Given the description of an element on the screen output the (x, y) to click on. 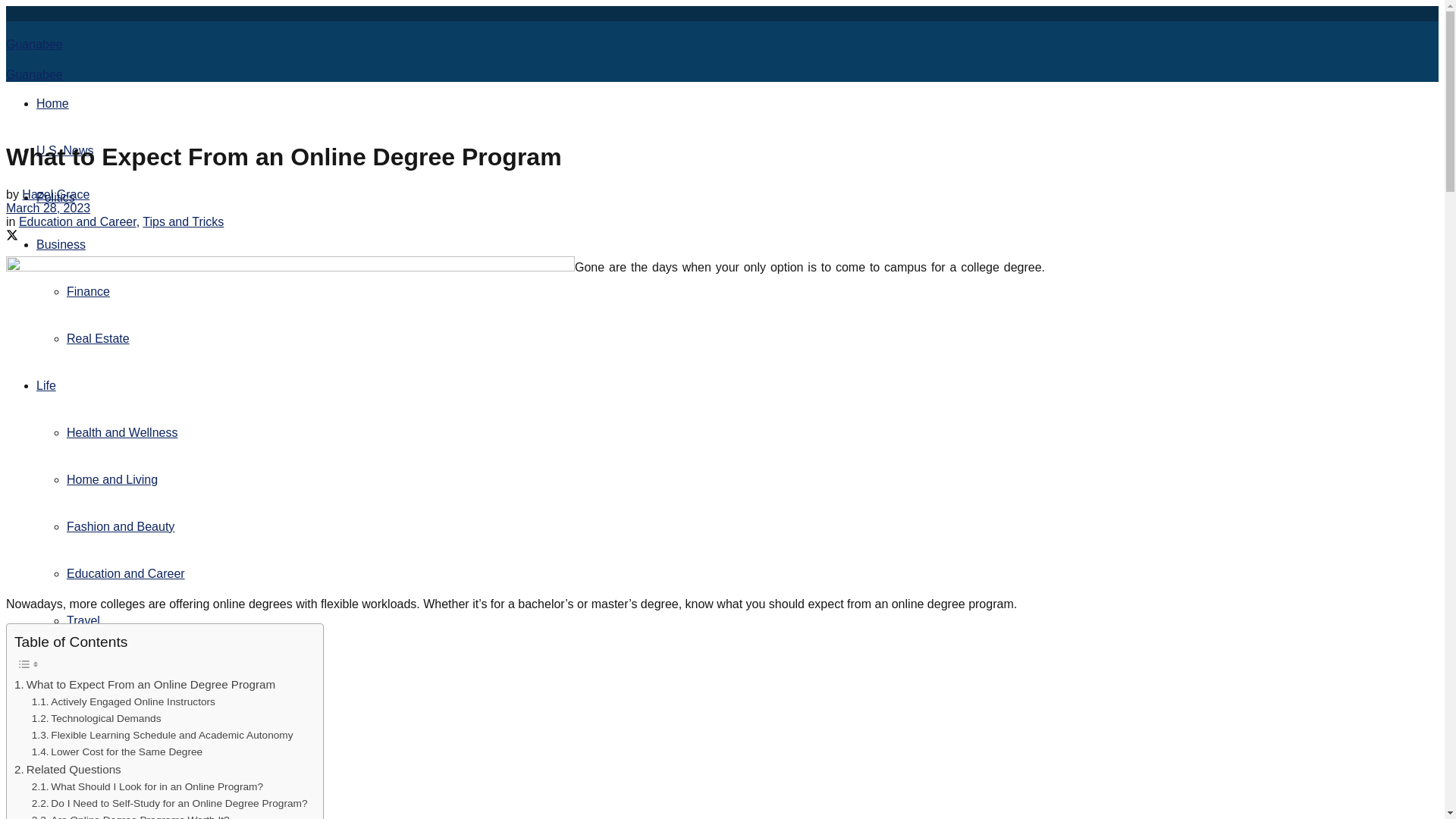
Home and Living (111, 479)
Guanabee (33, 74)
Entertainment (74, 714)
Lower Cost for the Same Degree (117, 751)
March 28, 2023 (47, 207)
What to Expect From an Online Degree Program (144, 684)
What Should I Look for in an Online Program? (147, 786)
Lower Cost for the Same Degree (117, 751)
Travel (83, 620)
What to Expect From an Online Degree Program (144, 684)
Finance (88, 291)
Flexible Learning Schedule and Academic Autonomy (163, 735)
Guanabee (33, 45)
Education and Career (125, 573)
Real Estate (97, 338)
